Given the description of an element on the screen output the (x, y) to click on. 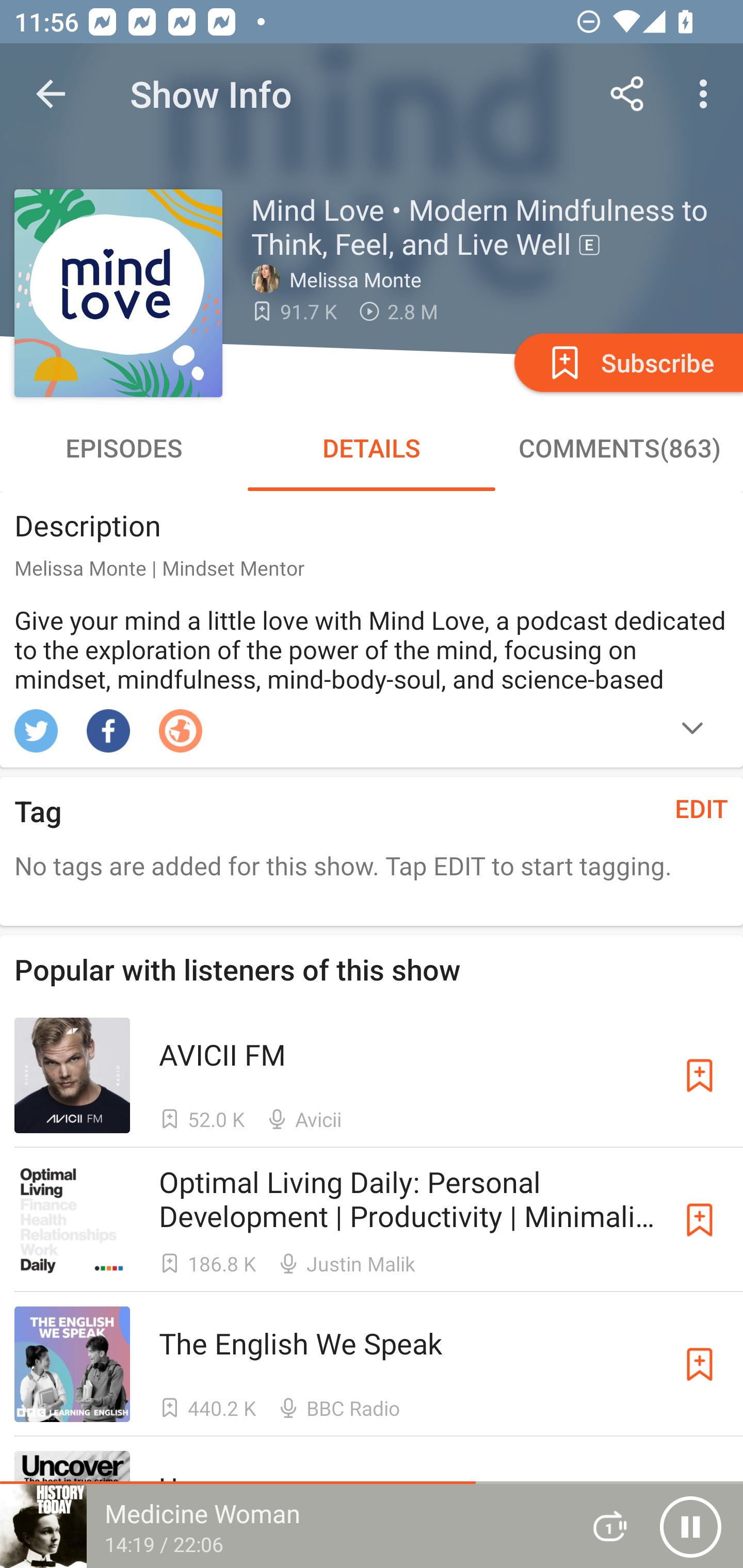
Navigate up (50, 93)
Share (626, 93)
More options (706, 93)
Melissa Monte (340, 278)
Subscribe (627, 361)
EPISODES (123, 447)
DETAILS (371, 447)
COMMENTS(863) (619, 447)
 (692, 730)
EDIT (701, 807)
AVICII FM AVICII FM  52.0 K  Avicii Subscribe (371, 1075)
Subscribe (699, 1075)
Subscribe (699, 1219)
Subscribe (699, 1364)
Medicine Woman 14:19 / 22:06 (283, 1525)
Pause (690, 1526)
